Given the description of an element on the screen output the (x, y) to click on. 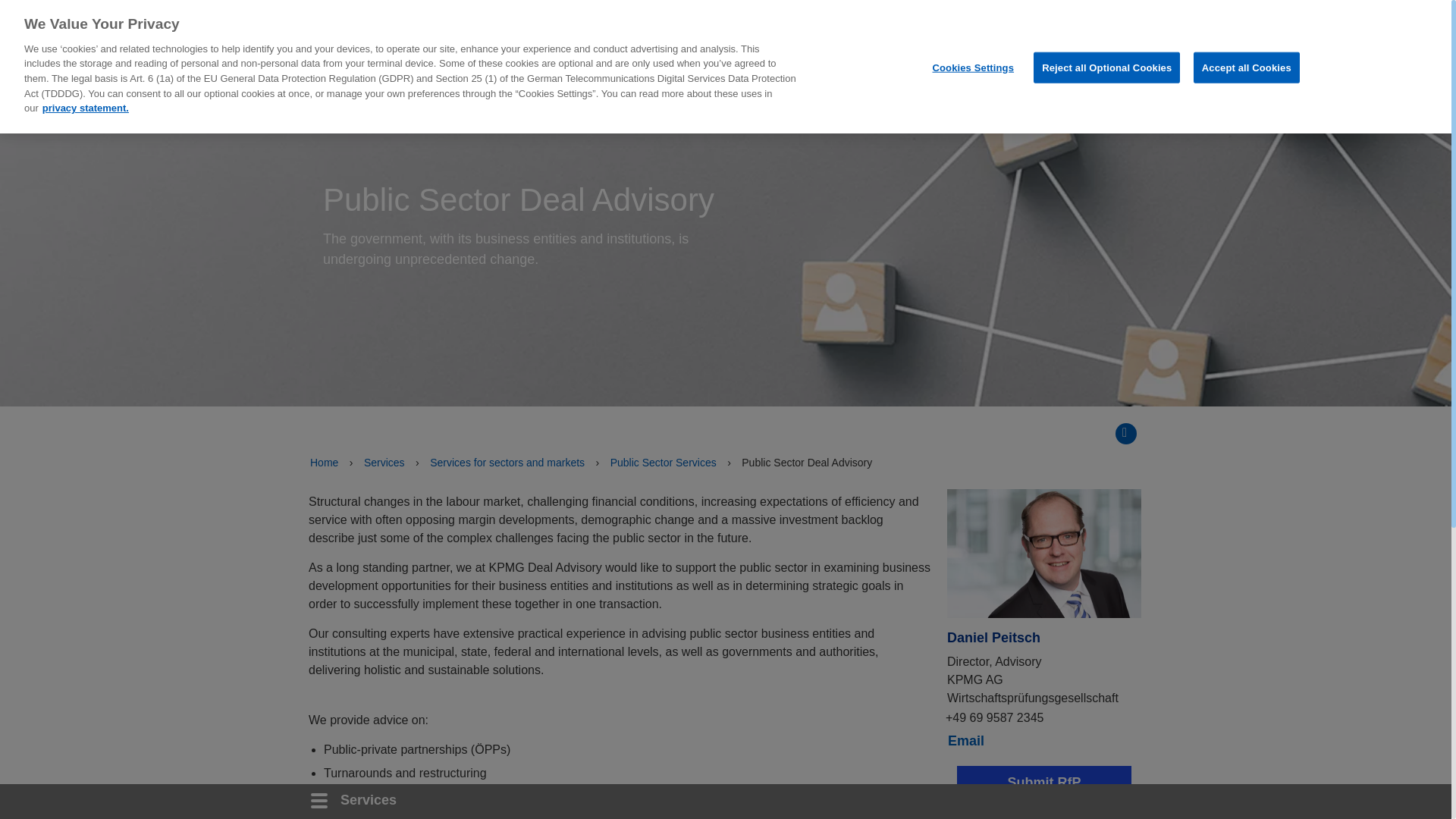
Services (684, 28)
Industries (593, 28)
Insights (503, 28)
